Given the description of an element on the screen output the (x, y) to click on. 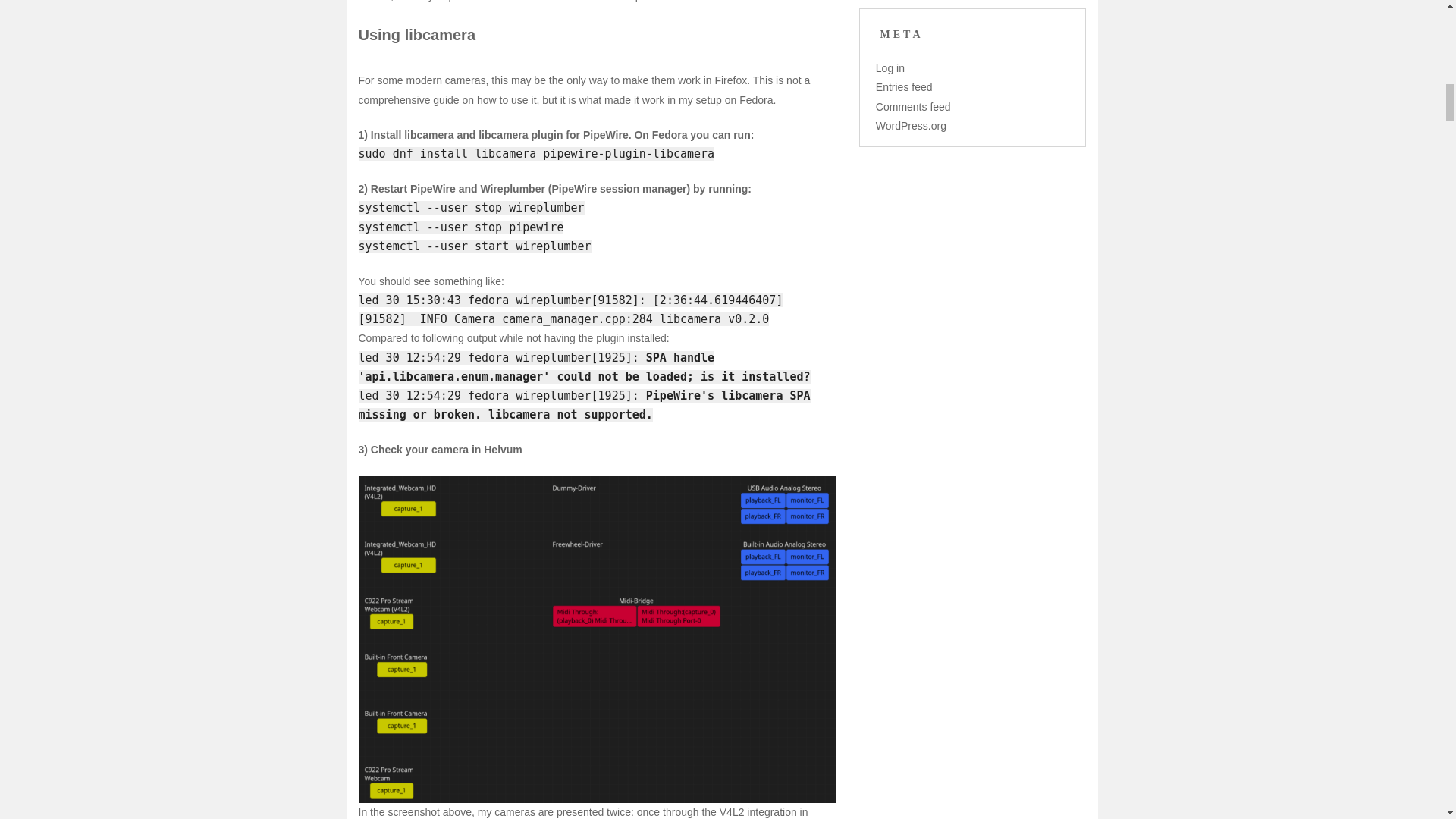
libcamera (440, 34)
